Given the description of an element on the screen output the (x, y) to click on. 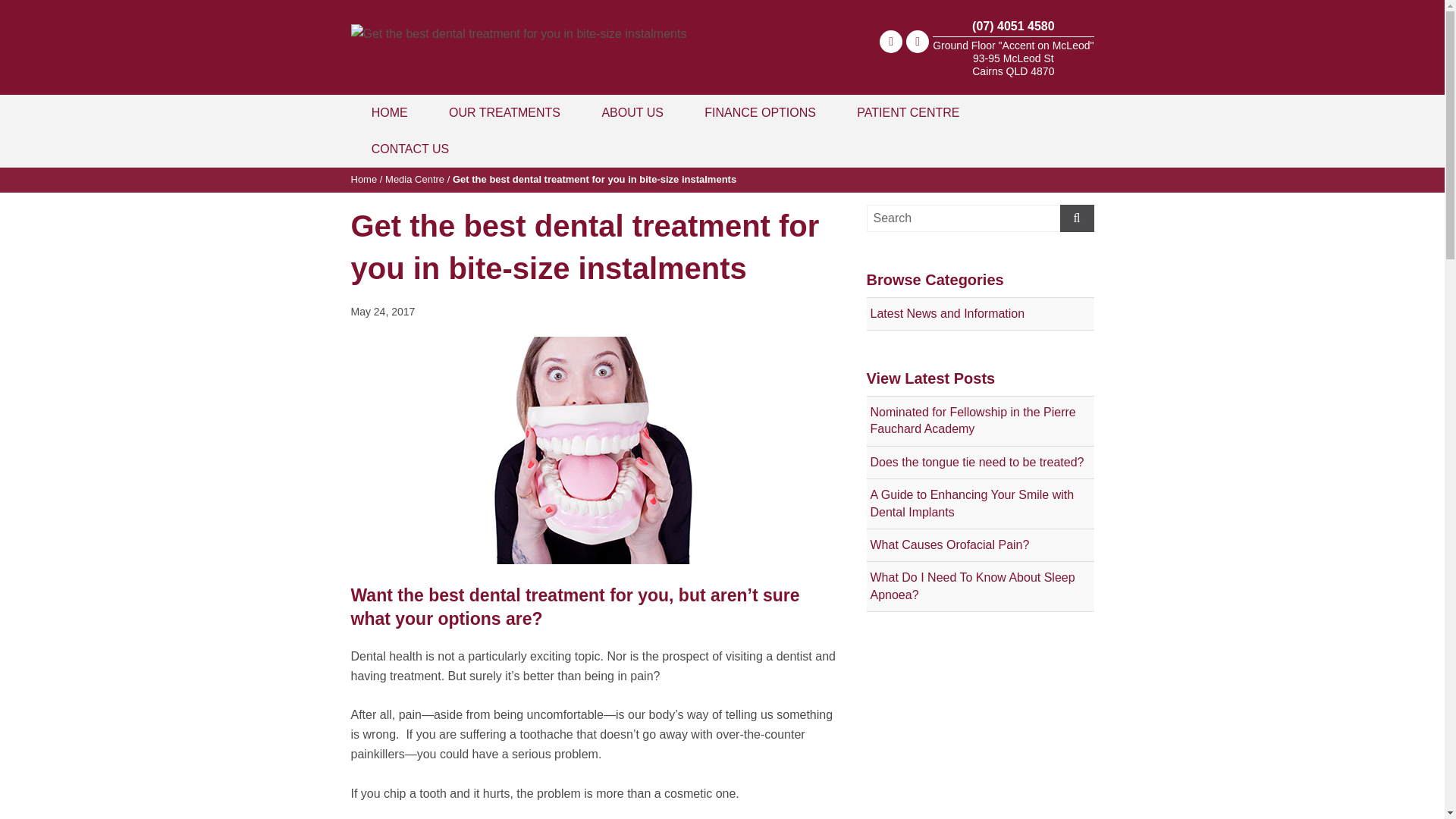
A Guide to Enhancing Your Smile with Dental Implants Element type: text (979, 503)
What Do I Need To Know About Sleep Apnoea? Element type: text (979, 586)
FINANCE OPTIONS Element type: text (760, 112)
What Causes Orofacial Pain? Element type: text (979, 545)
Nominated for Fellowship in the Pierre Fauchard Academy Element type: text (979, 420)
Search Element type: hover (979, 218)
PATIENT CENTRE Element type: text (908, 112)
Media Centre Element type: text (414, 179)
Home Element type: text (363, 179)
Does the tongue tie need to be treated? Element type: text (979, 462)
CONTACT US Element type: text (409, 149)
HOME Element type: text (388, 112)
Latest News and Information Element type: text (979, 313)
ABOUT US Element type: text (632, 112)
Future Dental Element type: hover (518, 25)
OUR TREATMENTS Element type: text (504, 112)
